Given the description of an element on the screen output the (x, y) to click on. 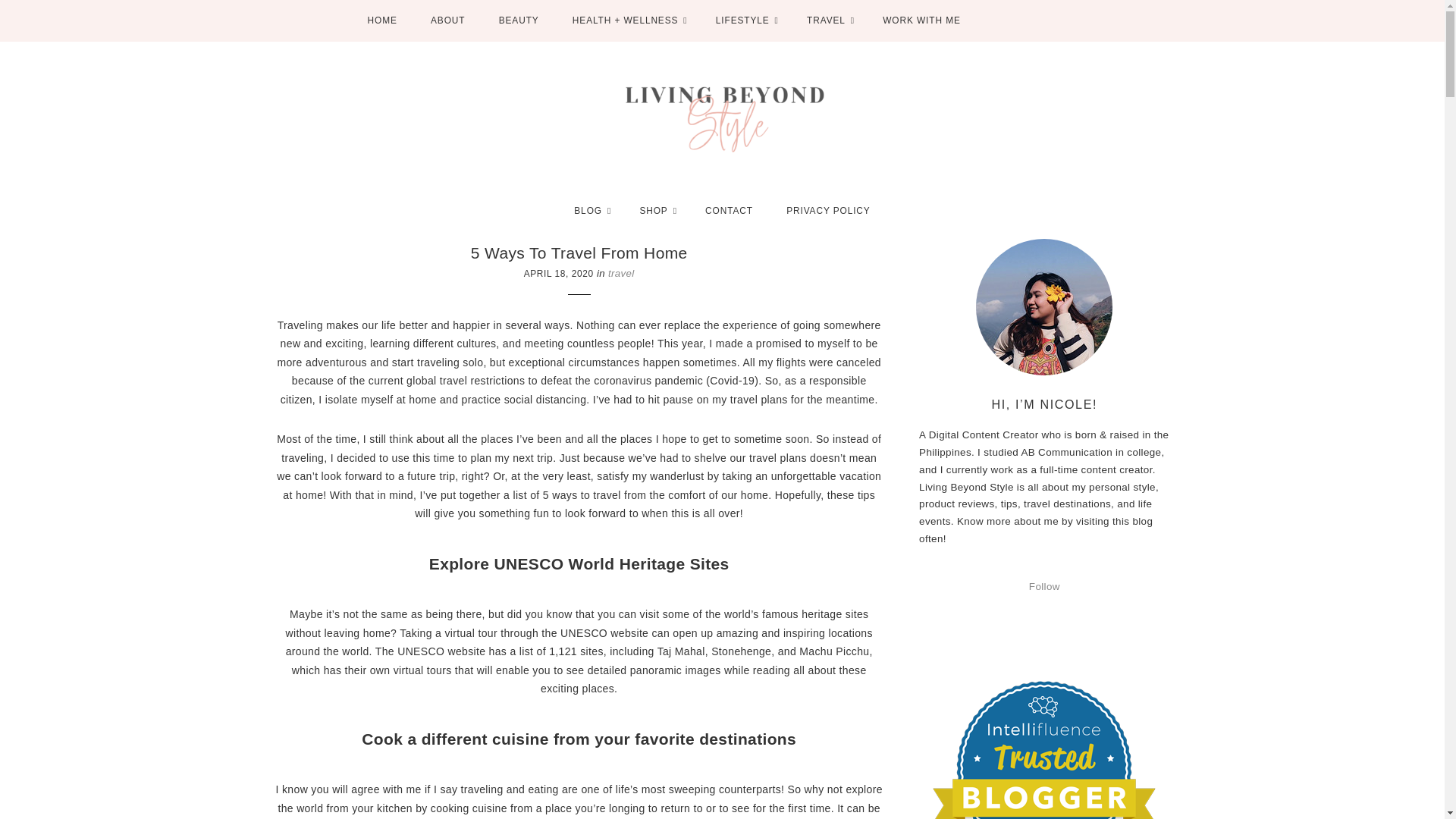
WORK WITH ME (921, 20)
TRAVEL (827, 20)
LIFESTYLE (744, 20)
BEAUTY (518, 20)
